Given the description of an element on the screen output the (x, y) to click on. 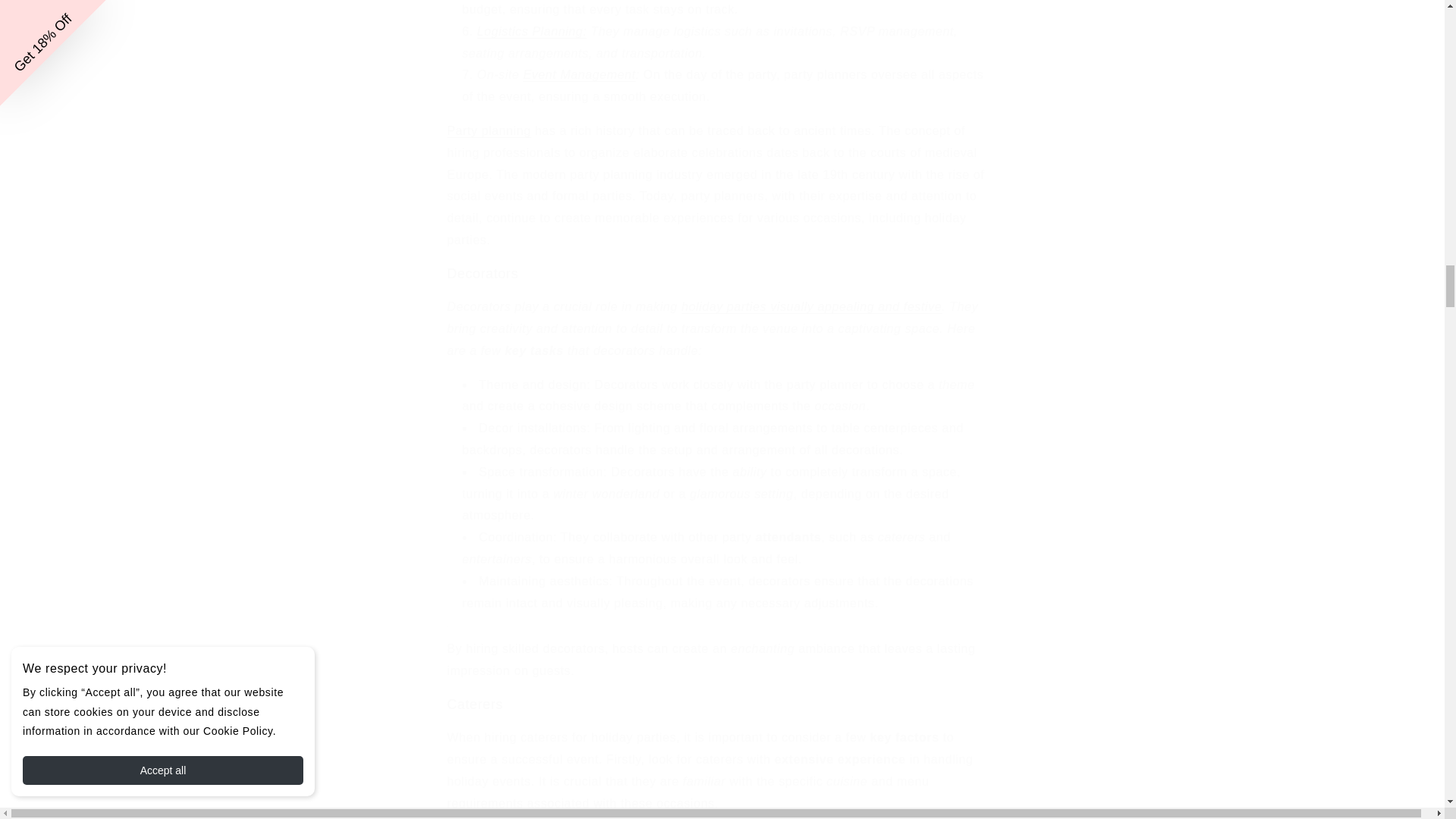
Event Management (578, 74)
Party planning (488, 130)
